Given the description of an element on the screen output the (x, y) to click on. 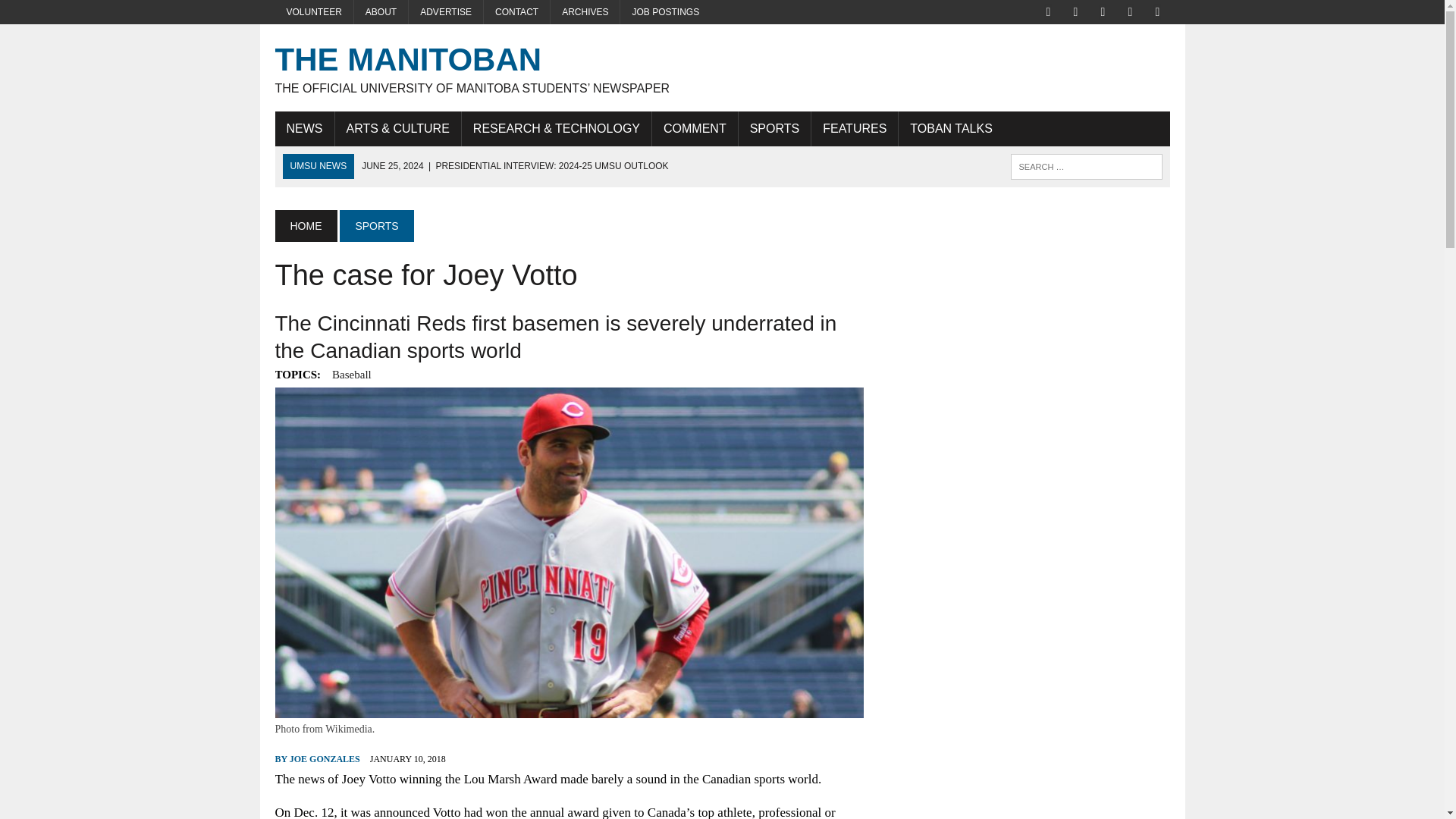
SPORTS (376, 225)
ADVERTISE (446, 12)
Search (75, 14)
FEATURES (854, 128)
HOME (305, 225)
NEWS (304, 128)
ARCHIVES (585, 12)
SPORTS (774, 128)
VOLUNTEER (313, 12)
Presidential interview: 2024-25 UMSU outlook (514, 165)
